Given the description of an element on the screen output the (x, y) to click on. 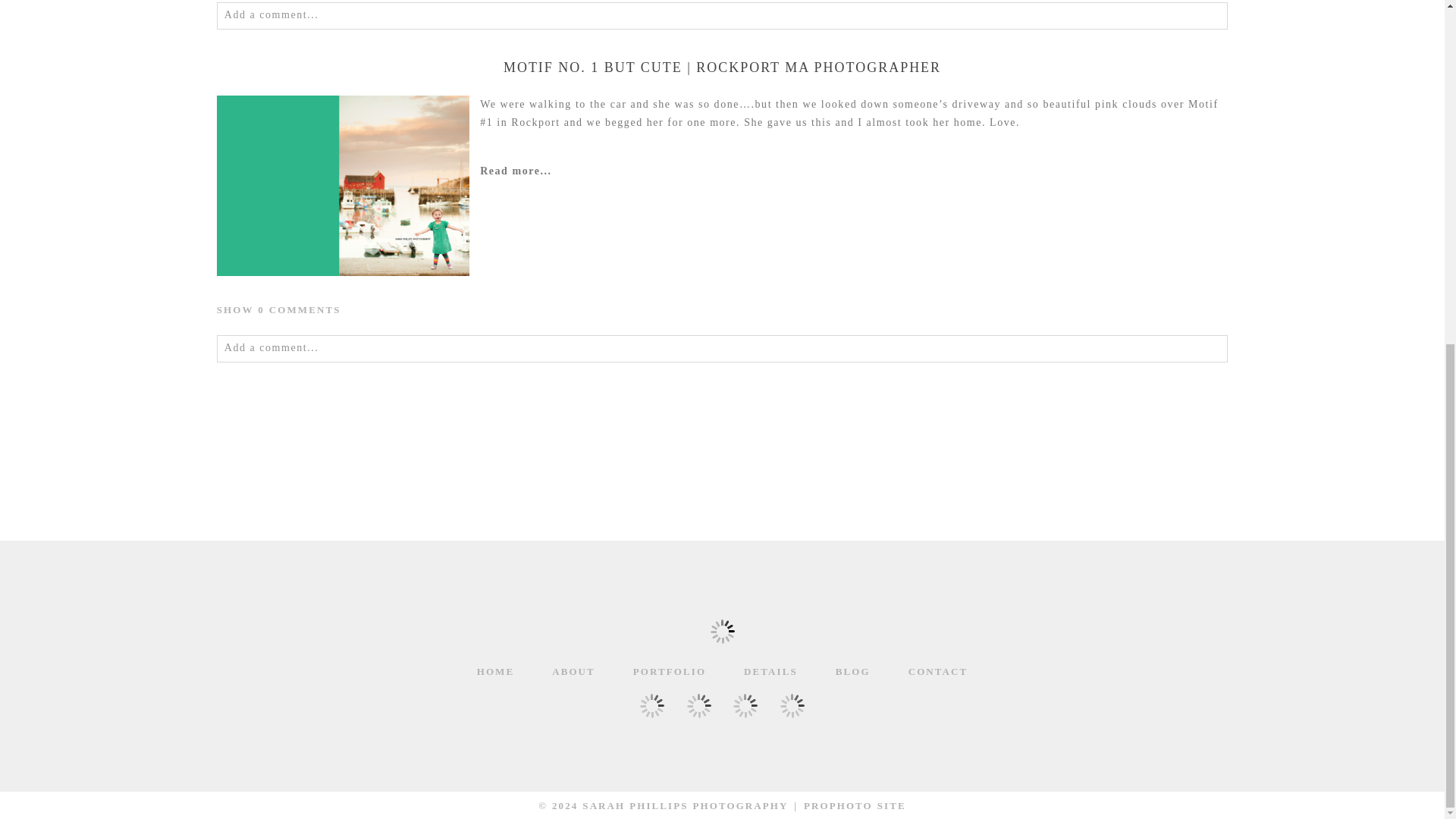
BLOG (852, 671)
CONTACT (938, 671)
ABOUT (573, 671)
ProPhoto Website (854, 805)
PROPHOTO SITE (854, 805)
PORTFOLIO (669, 671)
SHOW 0 COMMENTS (278, 309)
HOME (496, 671)
Read more... (853, 171)
DETAILS (770, 671)
